Given the description of an element on the screen output the (x, y) to click on. 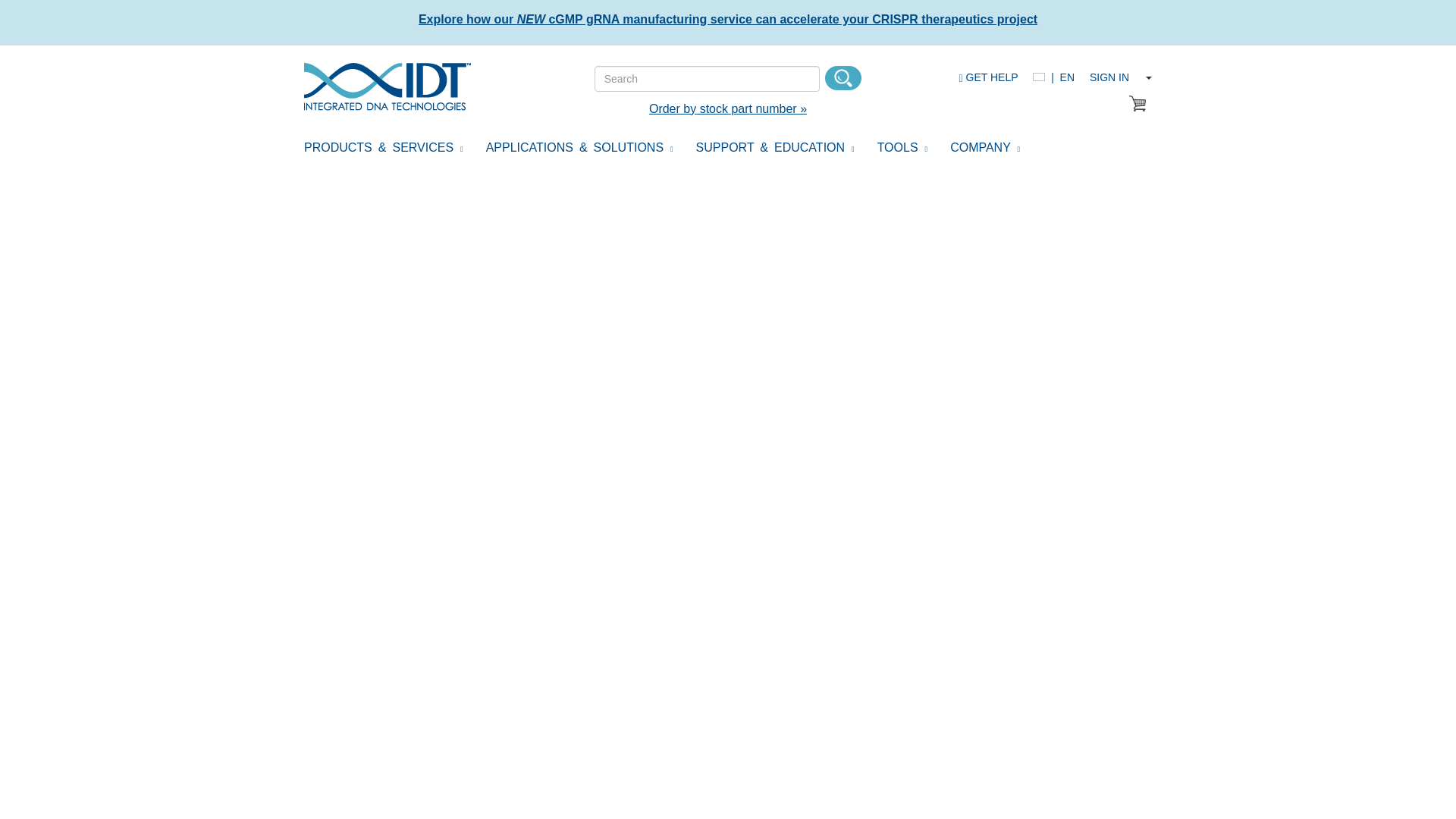
GET HELP (987, 77)
SIGN IN (1109, 77)
Integrated DNA Technologies (387, 86)
Search input (707, 78)
Cart Image (1137, 103)
